Given the description of an element on the screen output the (x, y) to click on. 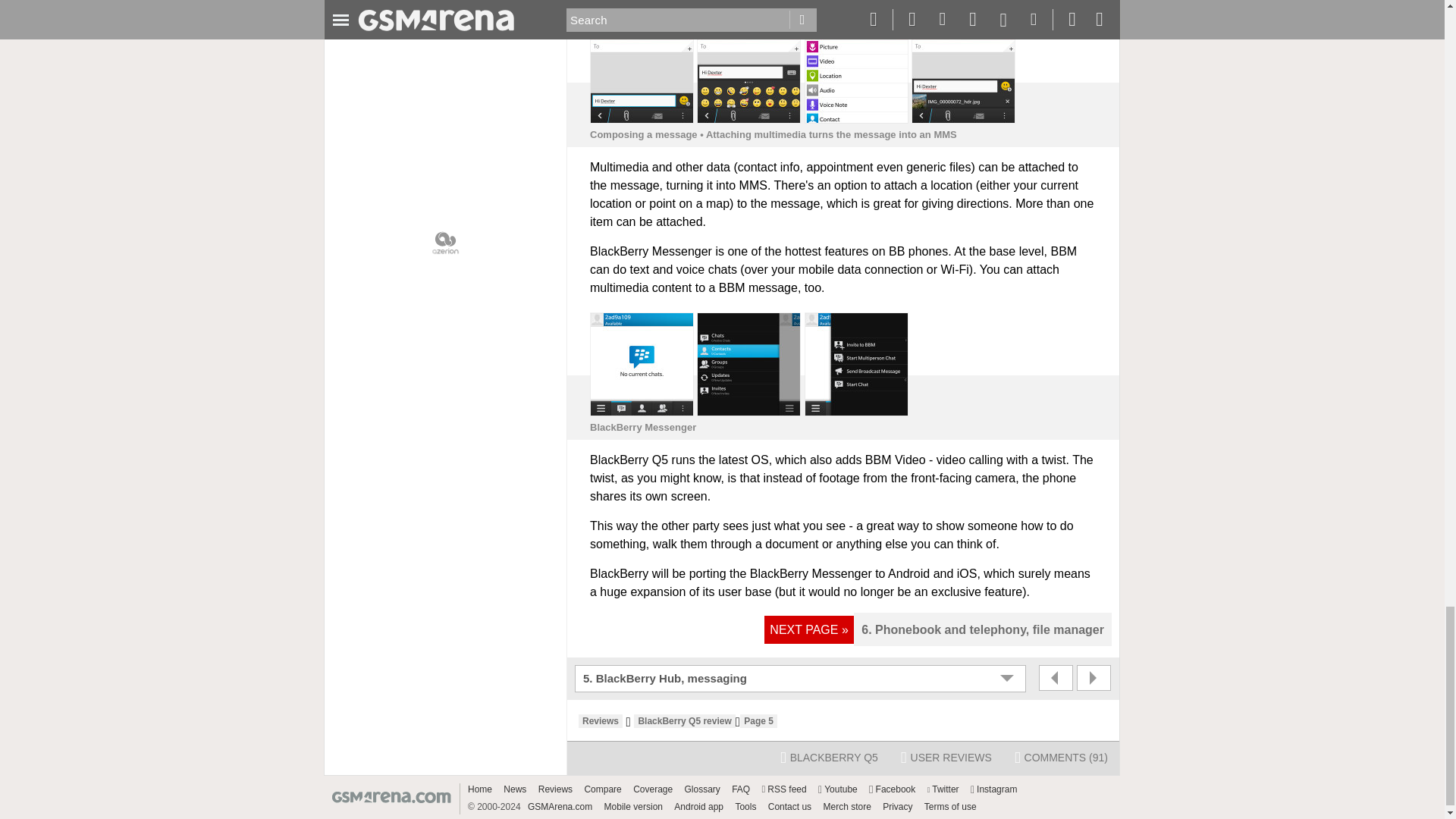
Next page (1093, 678)
Previous page (1056, 678)
5. BlackBerry Hub, messaging (802, 678)
